Given the description of an element on the screen output the (x, y) to click on. 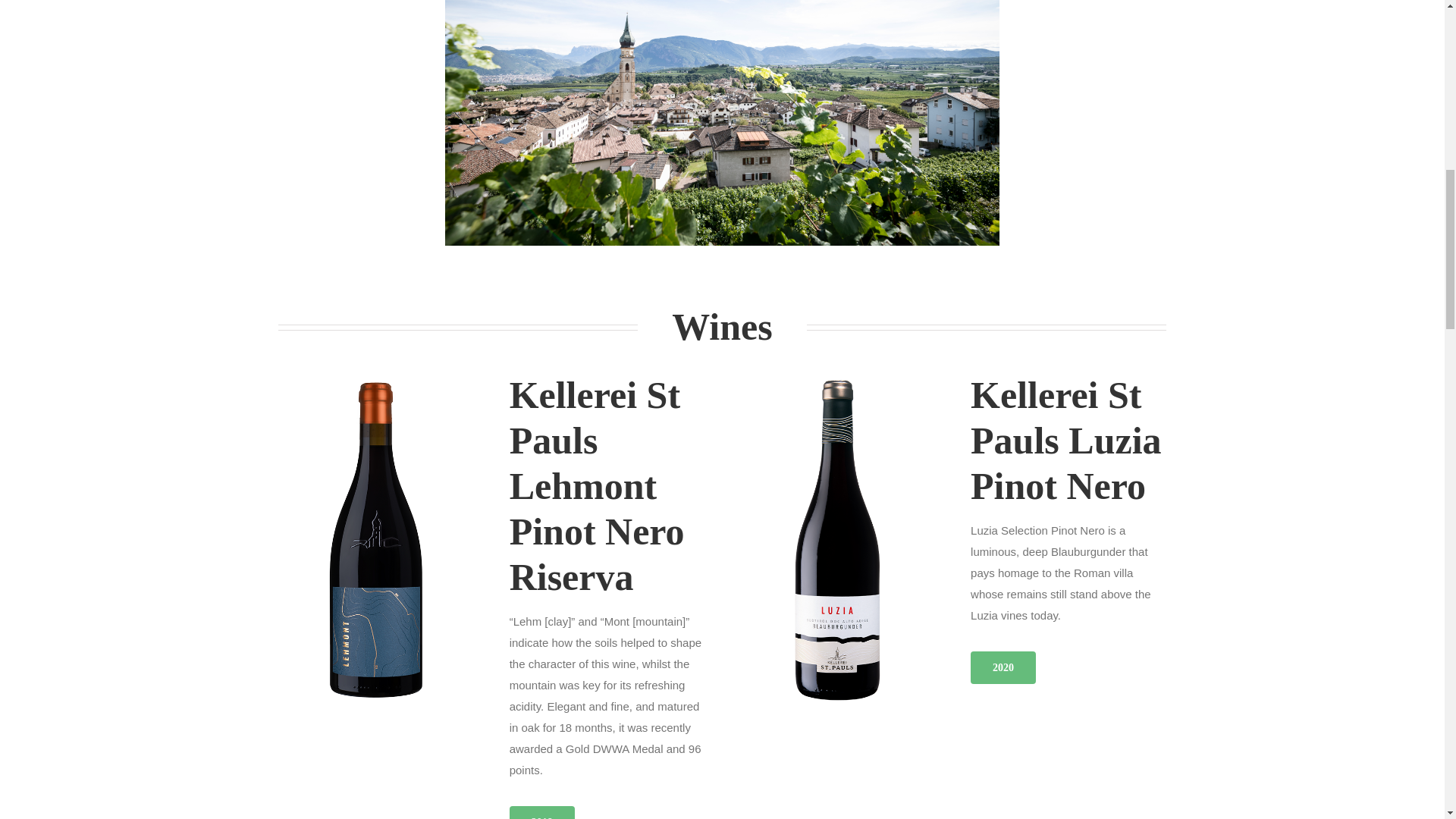
2018 (542, 812)
2020 (1003, 667)
